Given the description of an element on the screen output the (x, y) to click on. 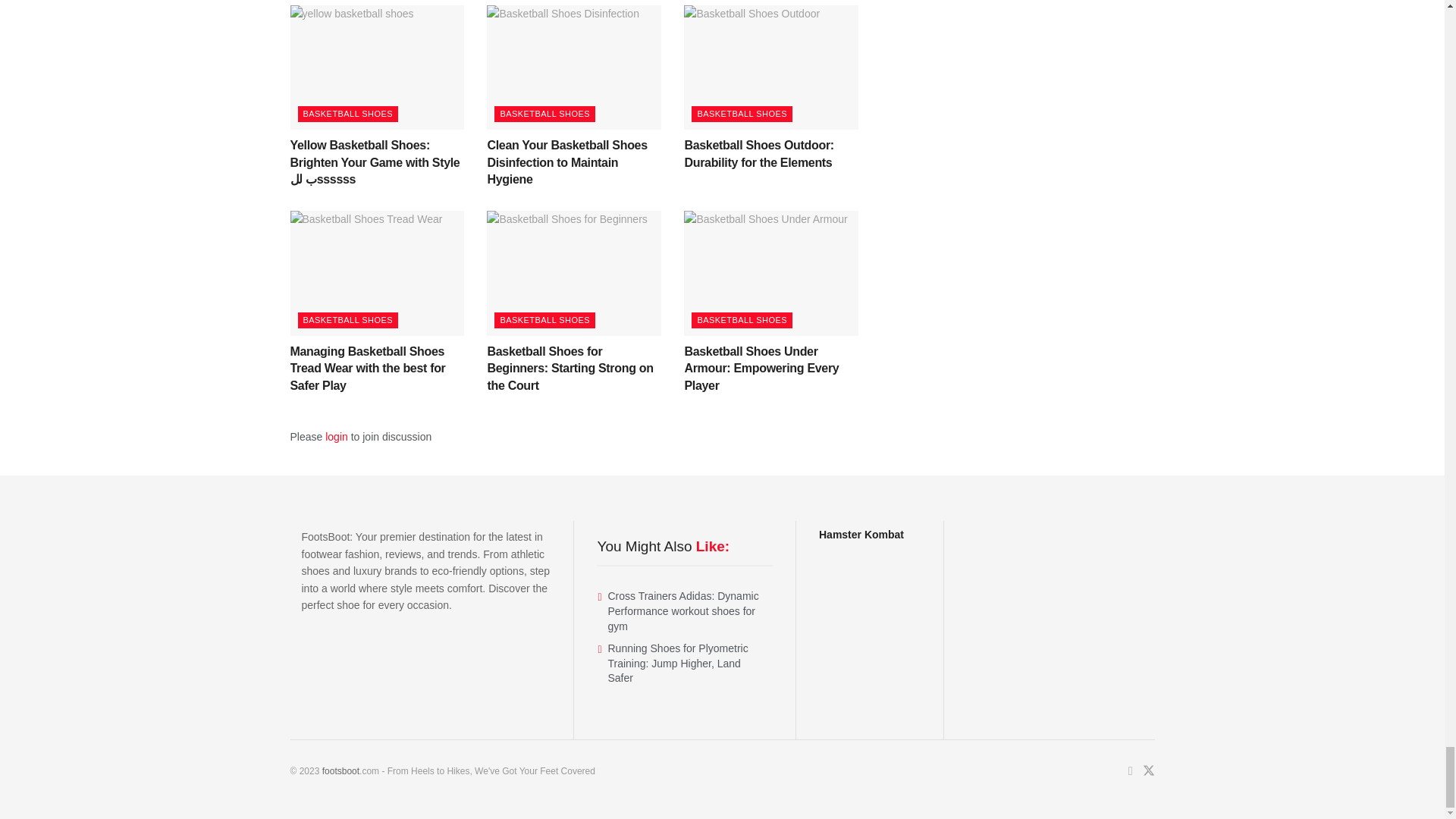
Basketball Shoes Under Armour: Empowering Every Player 12 (771, 272)
Basketball Shoes Outdoor: Durability for the Elements 9 (771, 66)
